Given the description of an element on the screen output the (x, y) to click on. 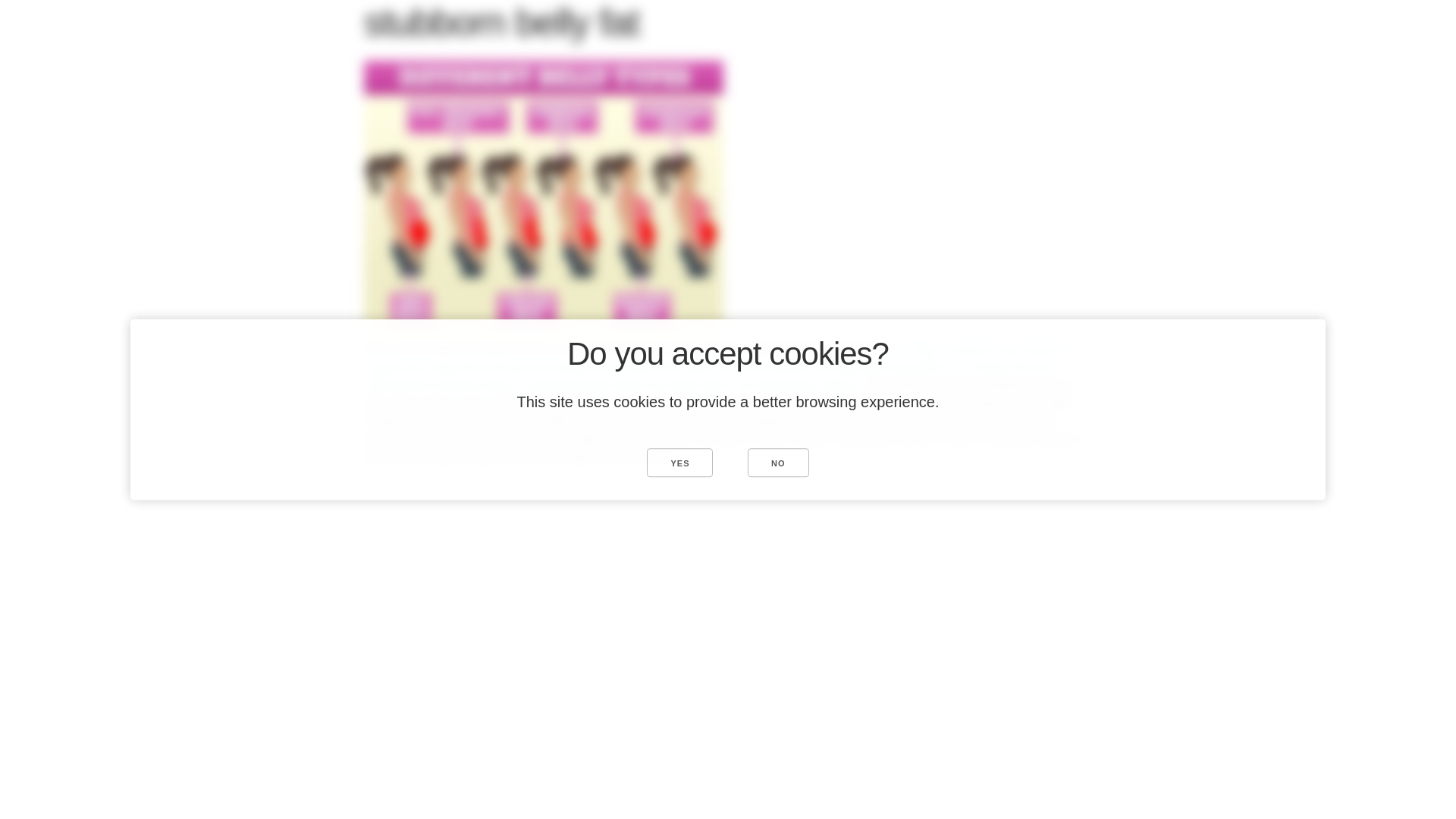
YES (679, 461)
NO (778, 461)
